Given the description of an element on the screen output the (x, y) to click on. 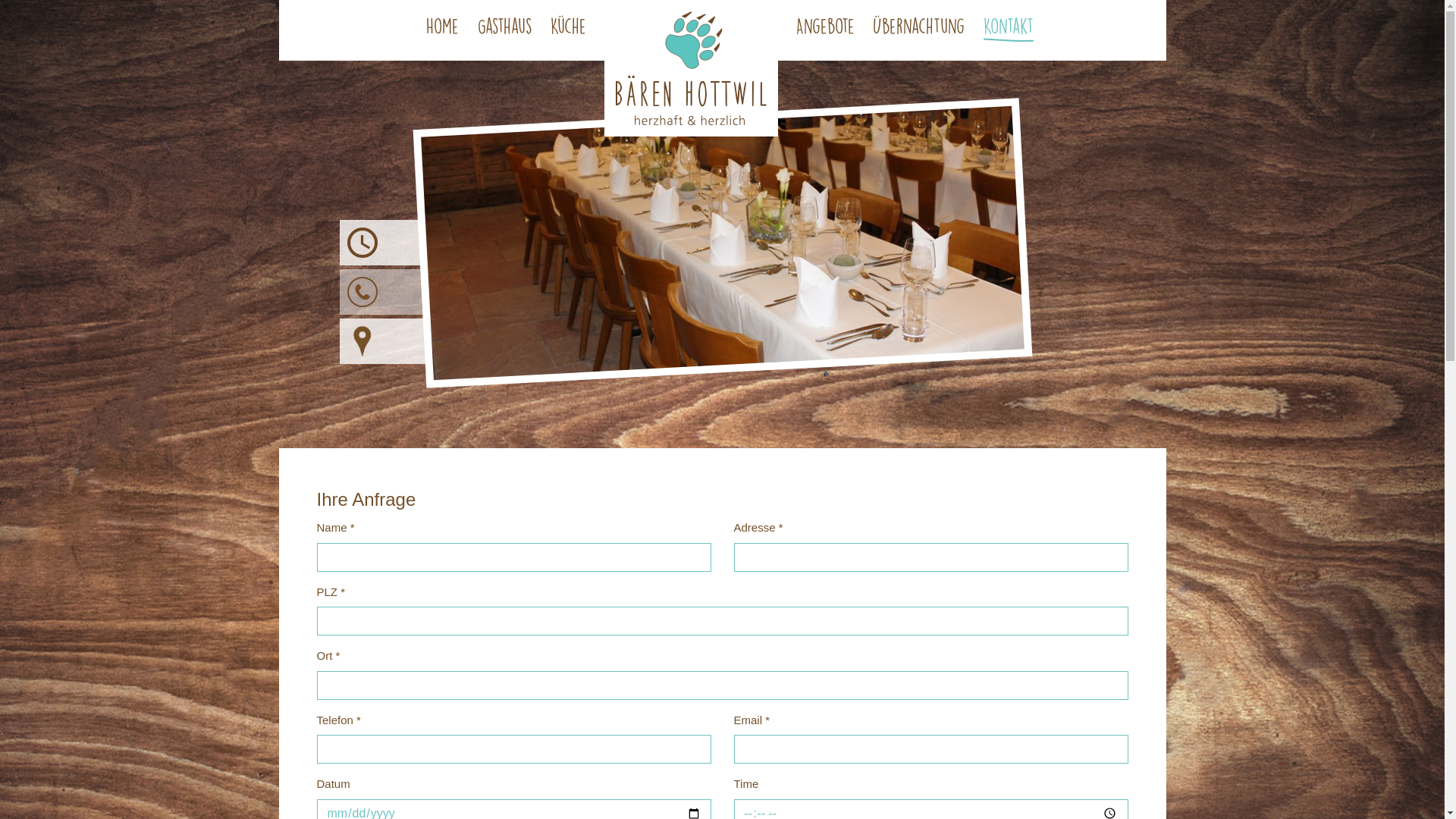
Home Element type: text (442, 29)
Angebote Element type: text (825, 29)
Kontakt Element type: text (1008, 29)
Gasthaus Element type: text (504, 29)
